Given the description of an element on the screen output the (x, y) to click on. 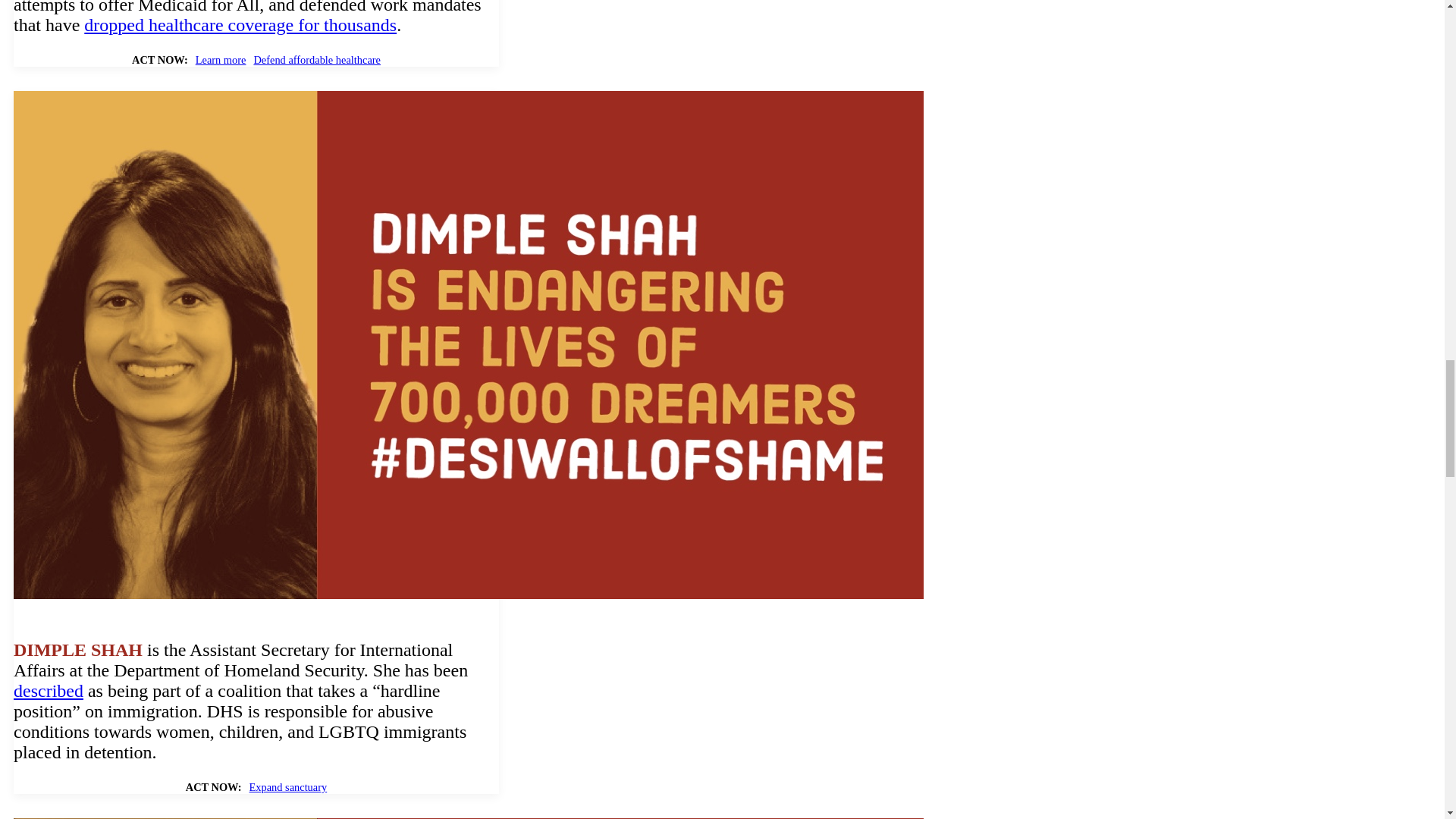
Defend affordable healthcare (316, 60)
dropped healthcare coverage for thousands (240, 25)
Expand sanctuary (287, 787)
Learn more (220, 60)
described (47, 690)
